Given the description of an element on the screen output the (x, y) to click on. 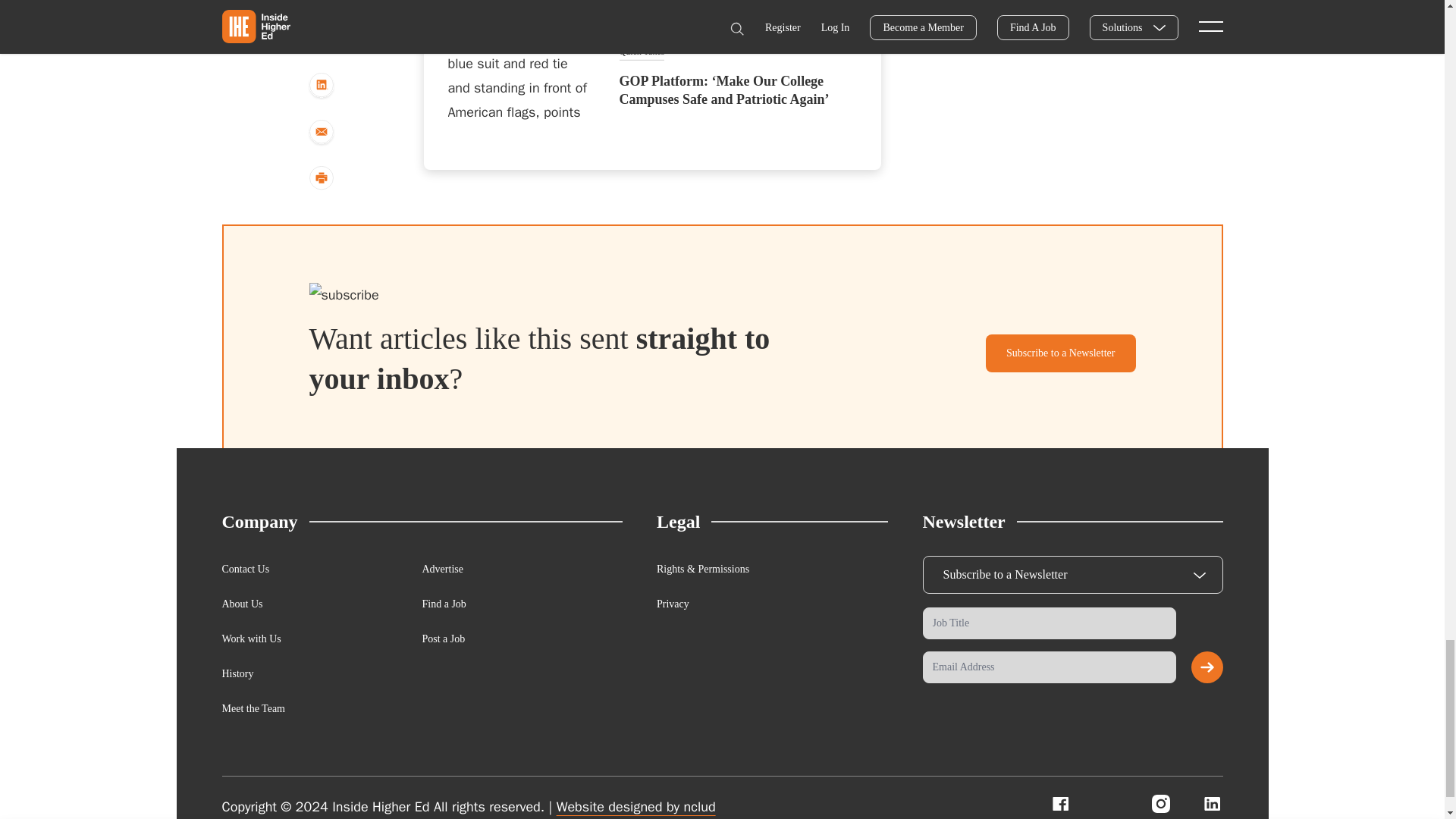
Submit (1207, 667)
